Given the description of an element on the screen output the (x, y) to click on. 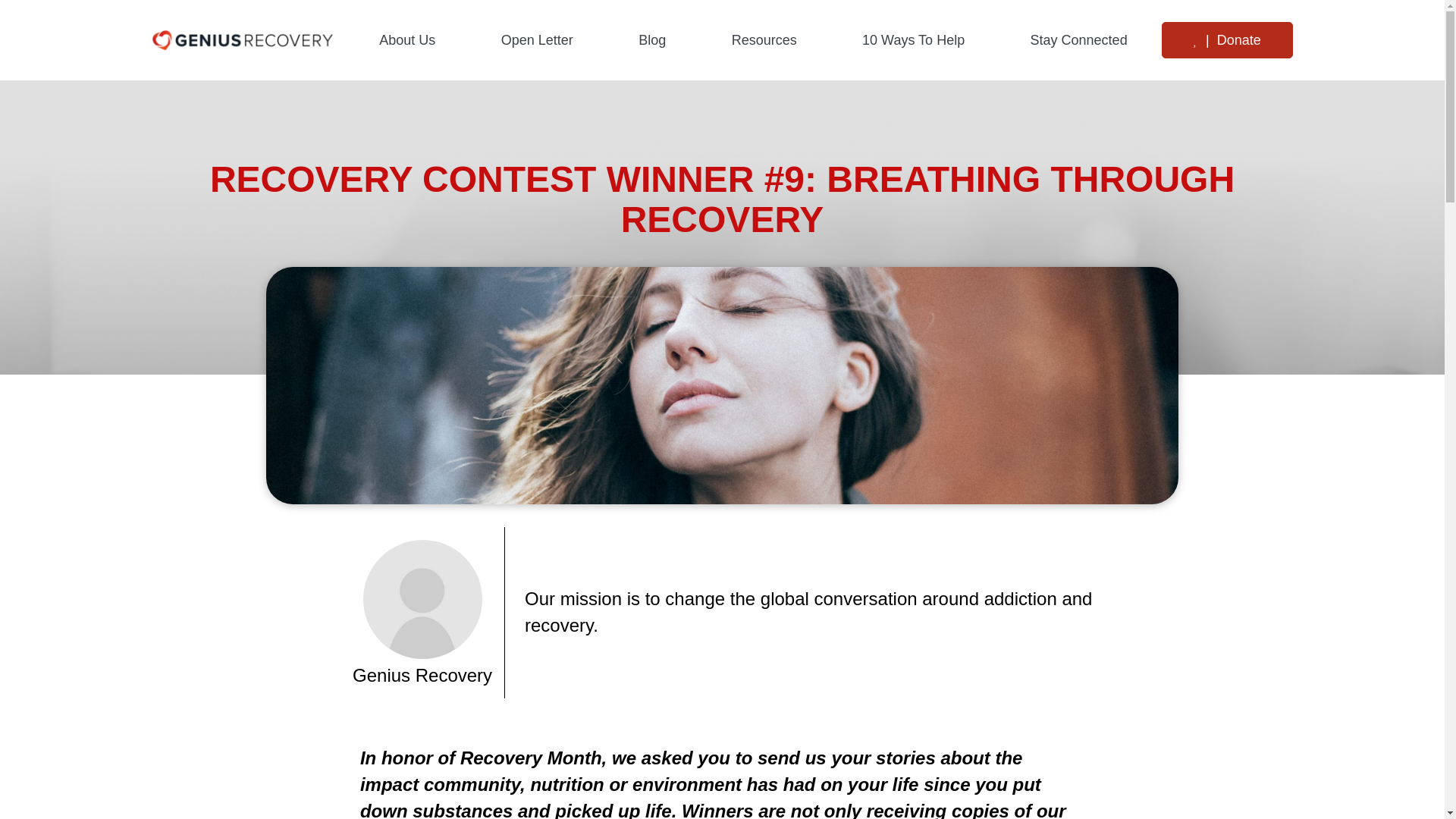
Blog (652, 40)
About Us (407, 40)
Resources (763, 40)
10 Ways To Help (912, 40)
Open Letter (537, 40)
Stay Connected (1078, 40)
